Given the description of an element on the screen output the (x, y) to click on. 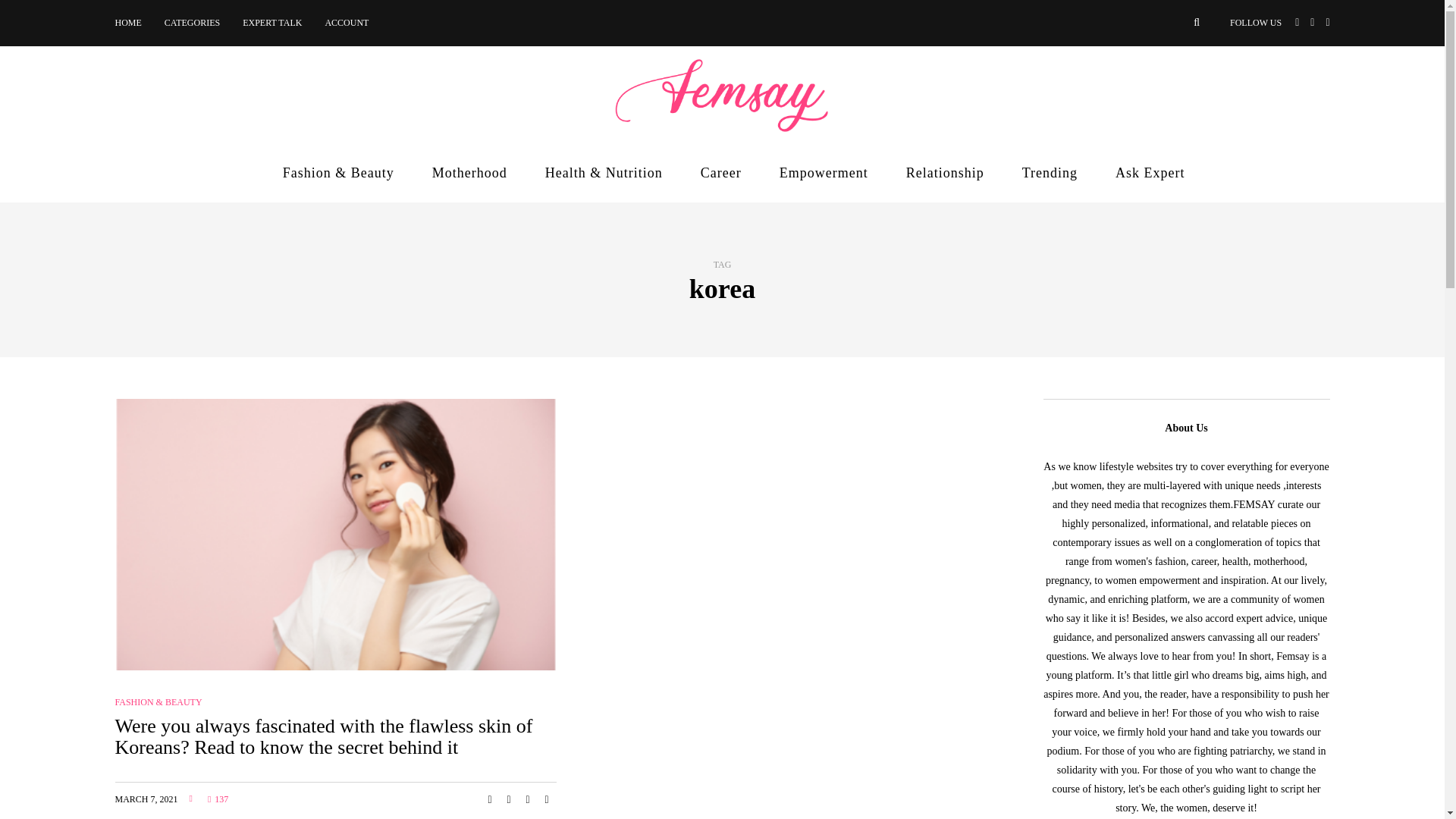
Pin this (546, 799)
Career (721, 173)
ACCOUNT (346, 22)
Motherhood (469, 173)
Trending (1049, 173)
Share with Google Plus (527, 799)
CATEGORIES (191, 22)
HOME (133, 22)
Ask Expert (1150, 173)
Empowerment (824, 173)
Tweet this (508, 799)
Share this (489, 799)
Relationship (945, 173)
EXPERT TALK (272, 22)
